Given the description of an element on the screen output the (x, y) to click on. 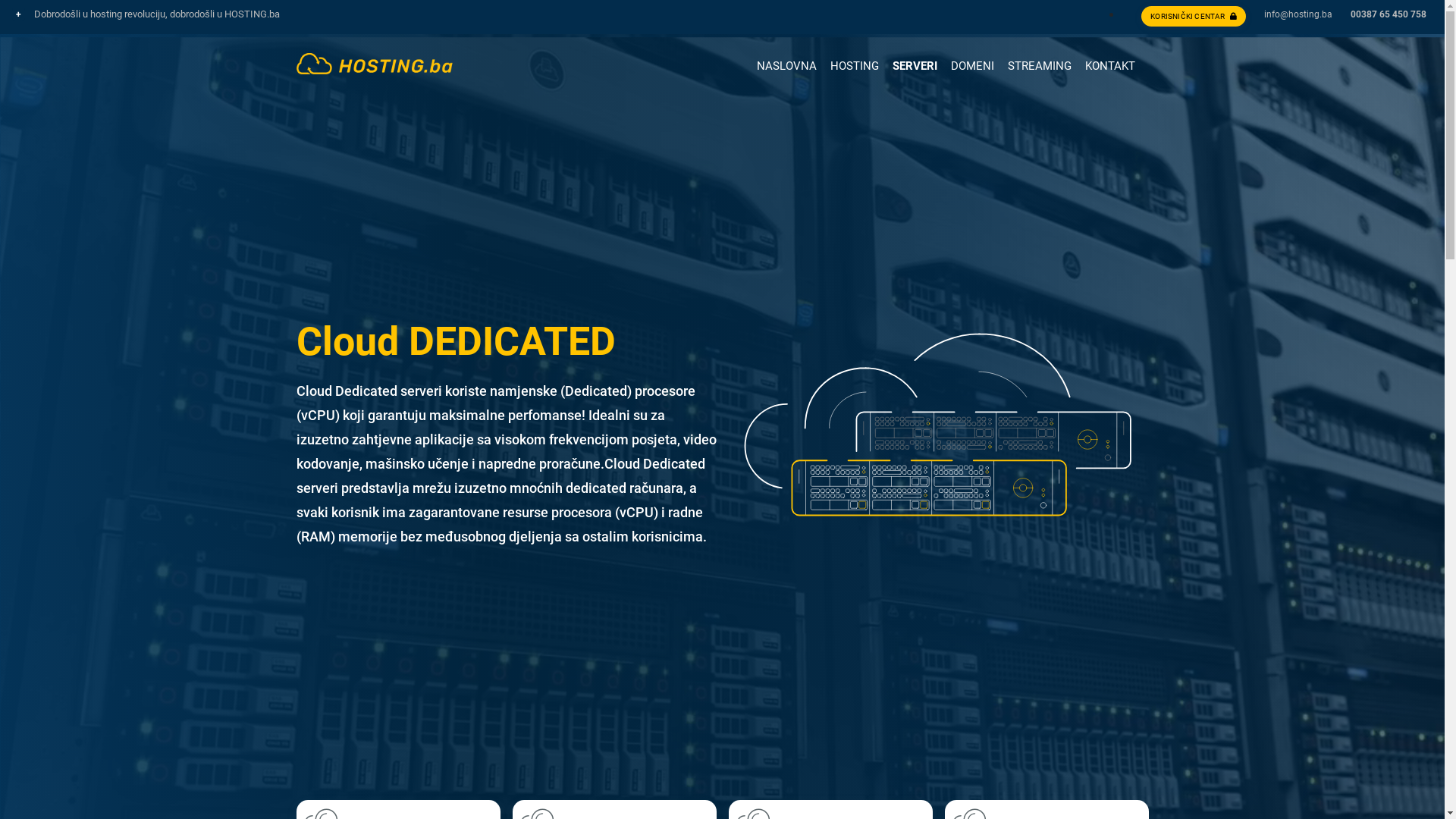
NASLOVNA Element type: text (786, 62)
SERVERI Element type: text (913, 67)
KONTAKT Element type: text (1109, 62)
info@hosting.ba Element type: text (1298, 14)
00387 65 450 758 Element type: text (1388, 14)
DOMENI Element type: text (972, 67)
HOSTING Element type: text (853, 67)
STREAMING Element type: text (1038, 67)
